Given the description of an element on the screen output the (x, y) to click on. 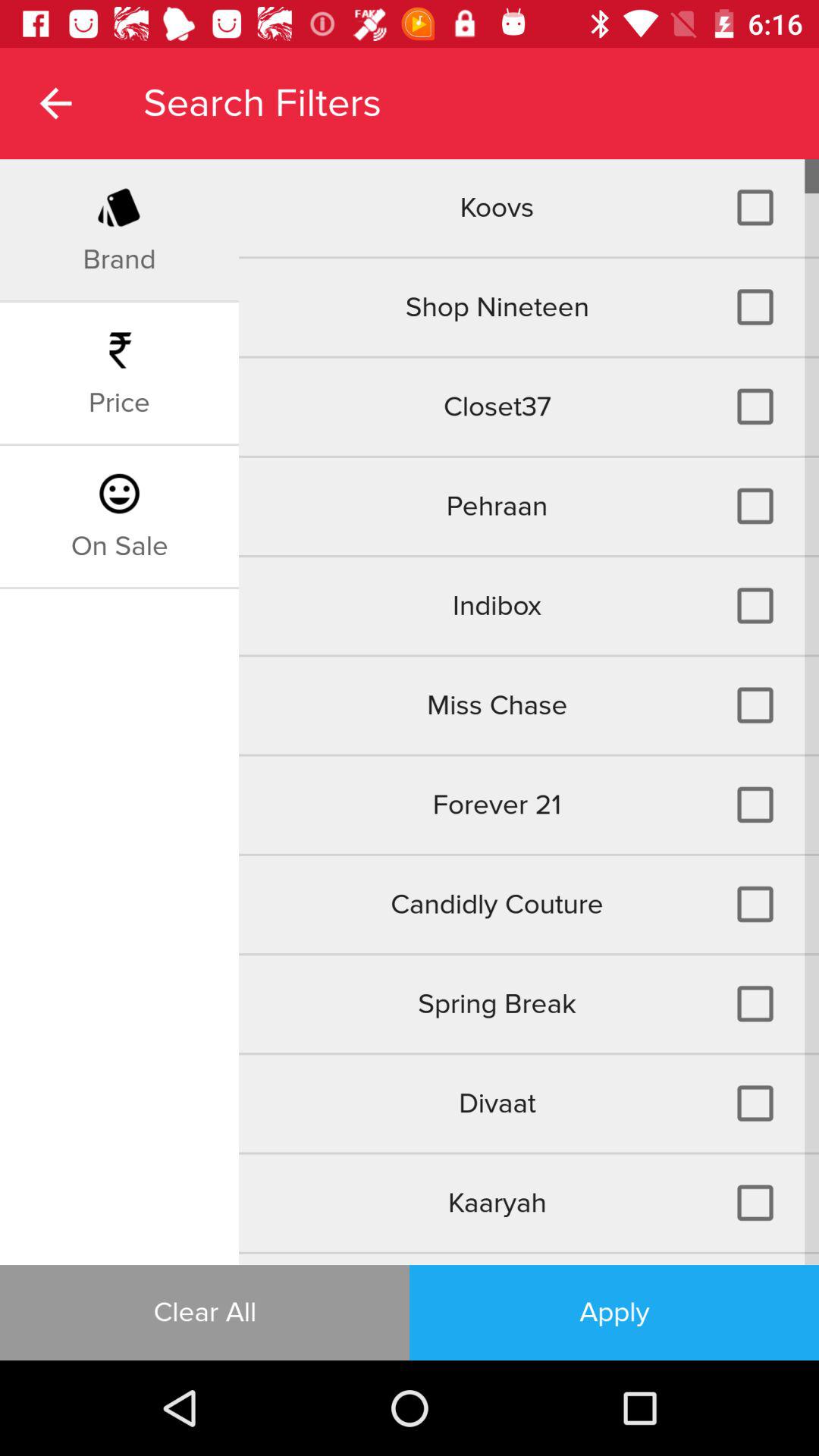
choose icon below closet37 item (528, 506)
